Given the description of an element on the screen output the (x, y) to click on. 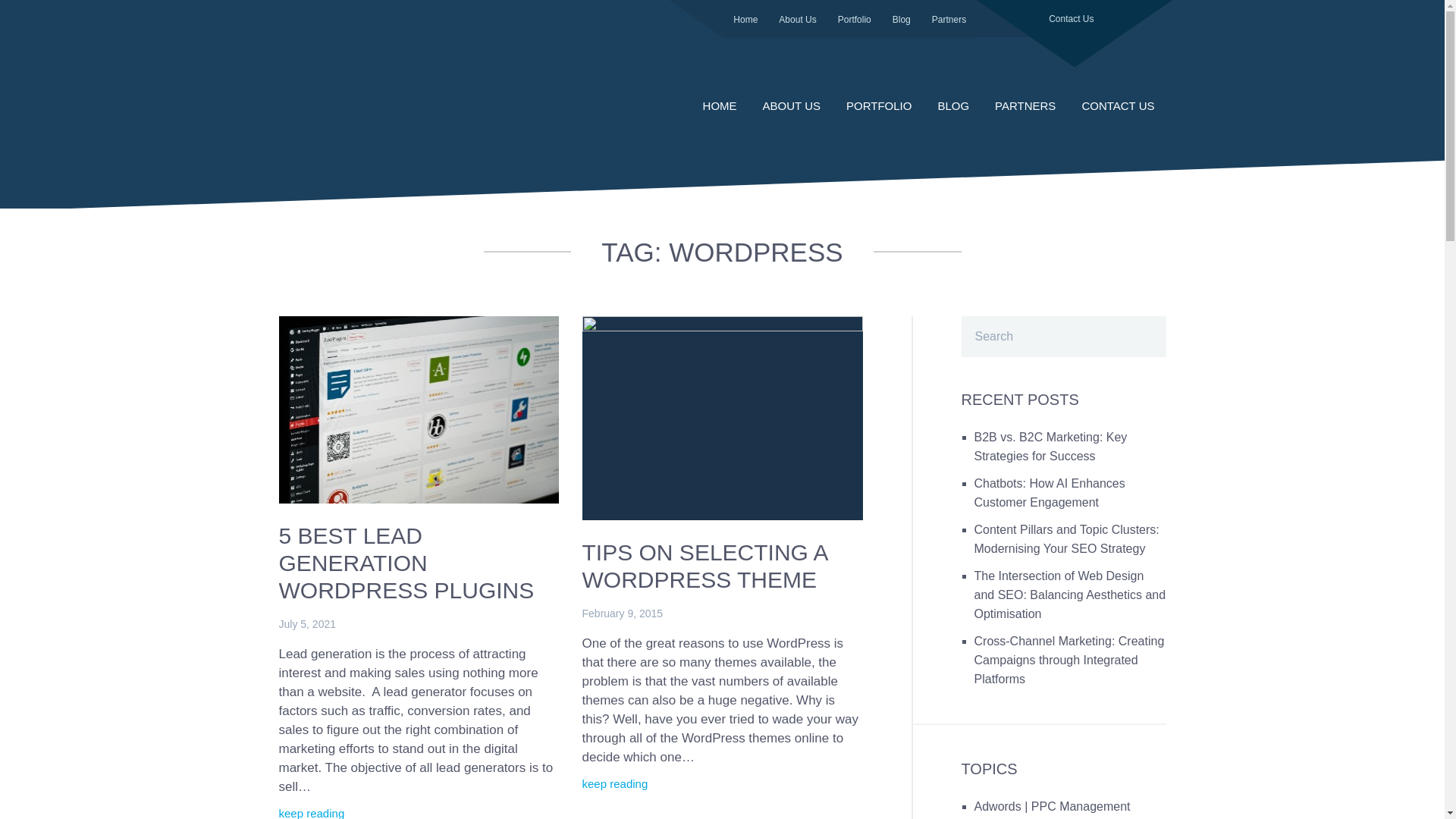
PARTNERS Element type: text (1024, 105)
Blog Element type: text (901, 18)
Cornerstone Digital Element type: text (381, 98)
keep reading Element type: text (615, 783)
TIPS ON SELECTING A WORDPRESS THEME Element type: text (704, 565)
About Us Element type: text (797, 18)
Search Element type: text (1142, 324)
5 BEST LEAD GENERATION WORDPRESS PLUGINS Element type: text (406, 562)
Contact Us Element type: text (1070, 33)
B2B vs. B2C Marketing: Key Strategies for Success Element type: text (1049, 446)
Chatbots: How AI Enhances Customer Engagement Element type: text (1048, 492)
ABOUT US Element type: text (791, 105)
Adwords | PPC Management Element type: text (1051, 806)
BLOG Element type: text (952, 105)
HOME Element type: text (719, 105)
PORTFOLIO Element type: text (878, 105)
Portfolio Element type: text (854, 18)
CONTACT US Element type: text (1117, 105)
Home Element type: text (745, 18)
Partners Element type: text (948, 18)
